Given the description of an element on the screen output the (x, y) to click on. 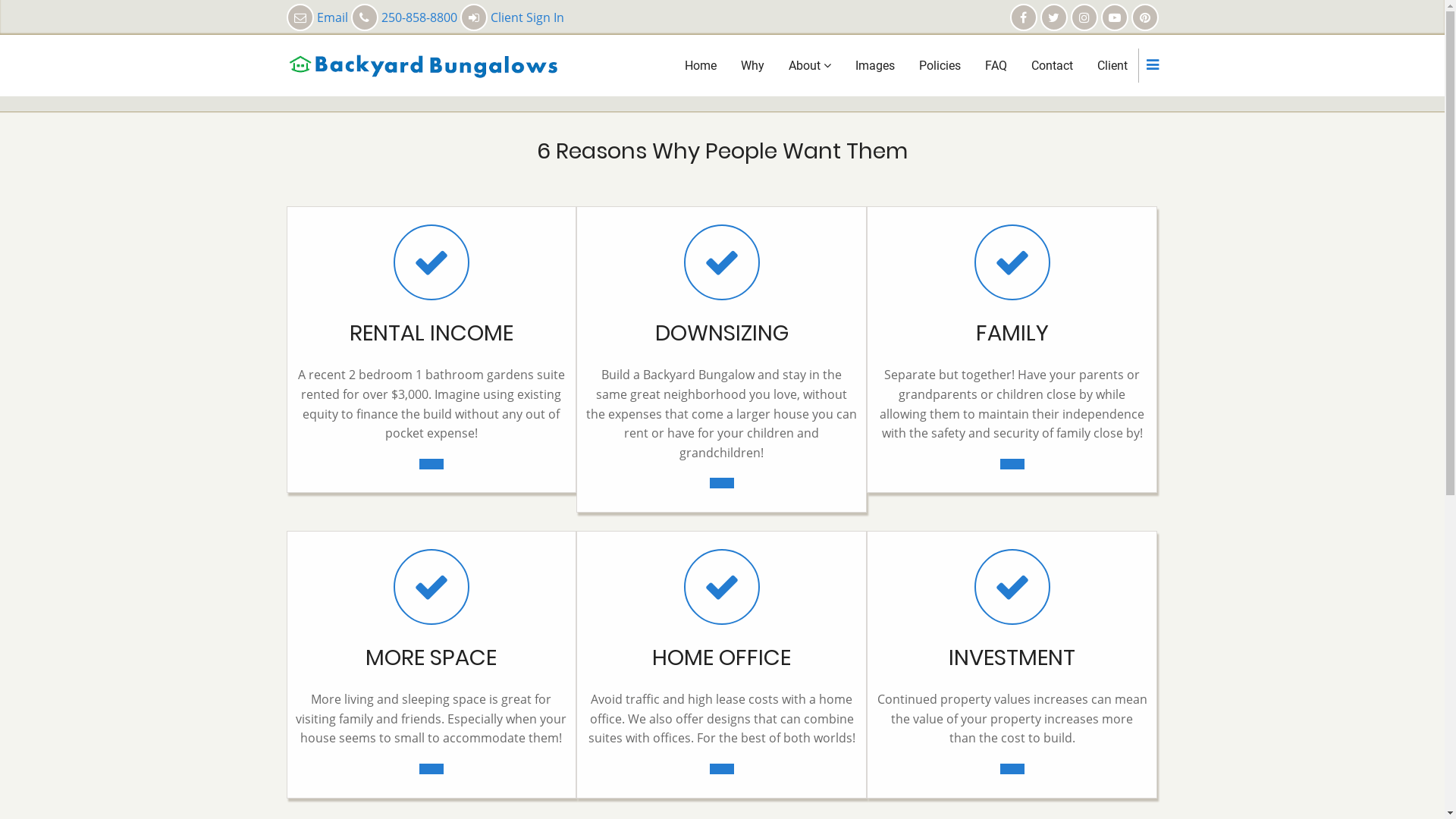
Contact Element type: text (1051, 65)
Client Sign In Element type: text (511, 17)
Skip to main content Element type: text (0, 0)
Home Element type: text (699, 65)
Policies Element type: text (939, 65)
Images Element type: text (874, 65)
Email
250-858-8800 Element type: text (373, 17)
Why Element type: text (751, 65)
FAQ Element type: text (994, 65)
About Element type: text (809, 65)
Home Element type: hover (422, 64)
Client Element type: text (1111, 65)
